Given the description of an element on the screen output the (x, y) to click on. 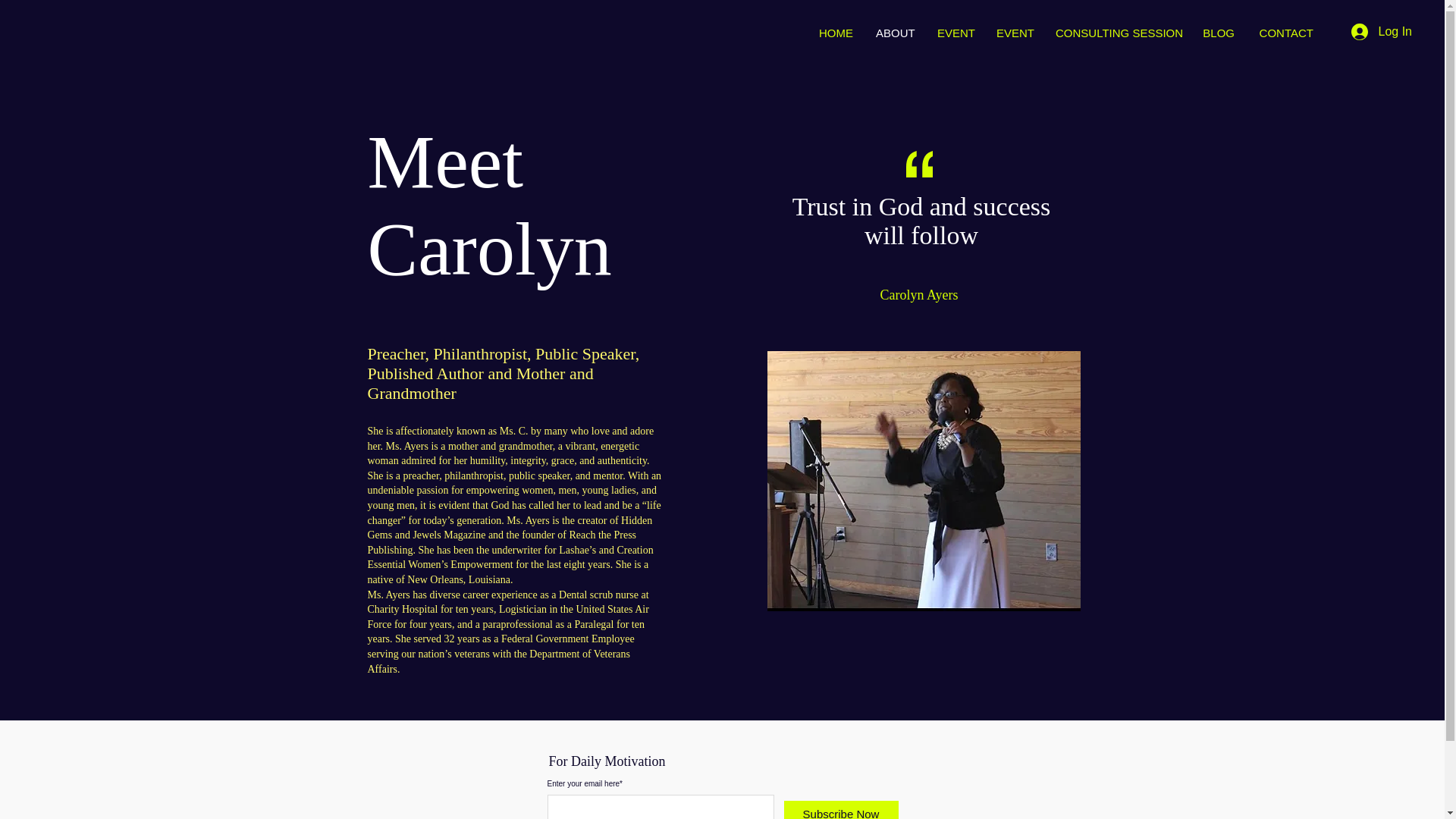
EVENT (955, 33)
Log In (1381, 31)
Subscribe Now (841, 809)
ABOUT (895, 33)
EVENT (1014, 33)
HOME (835, 33)
BLOG (1218, 33)
CONSULTING SESSION (1117, 33)
CONTACT (1285, 33)
